Given the description of an element on the screen output the (x, y) to click on. 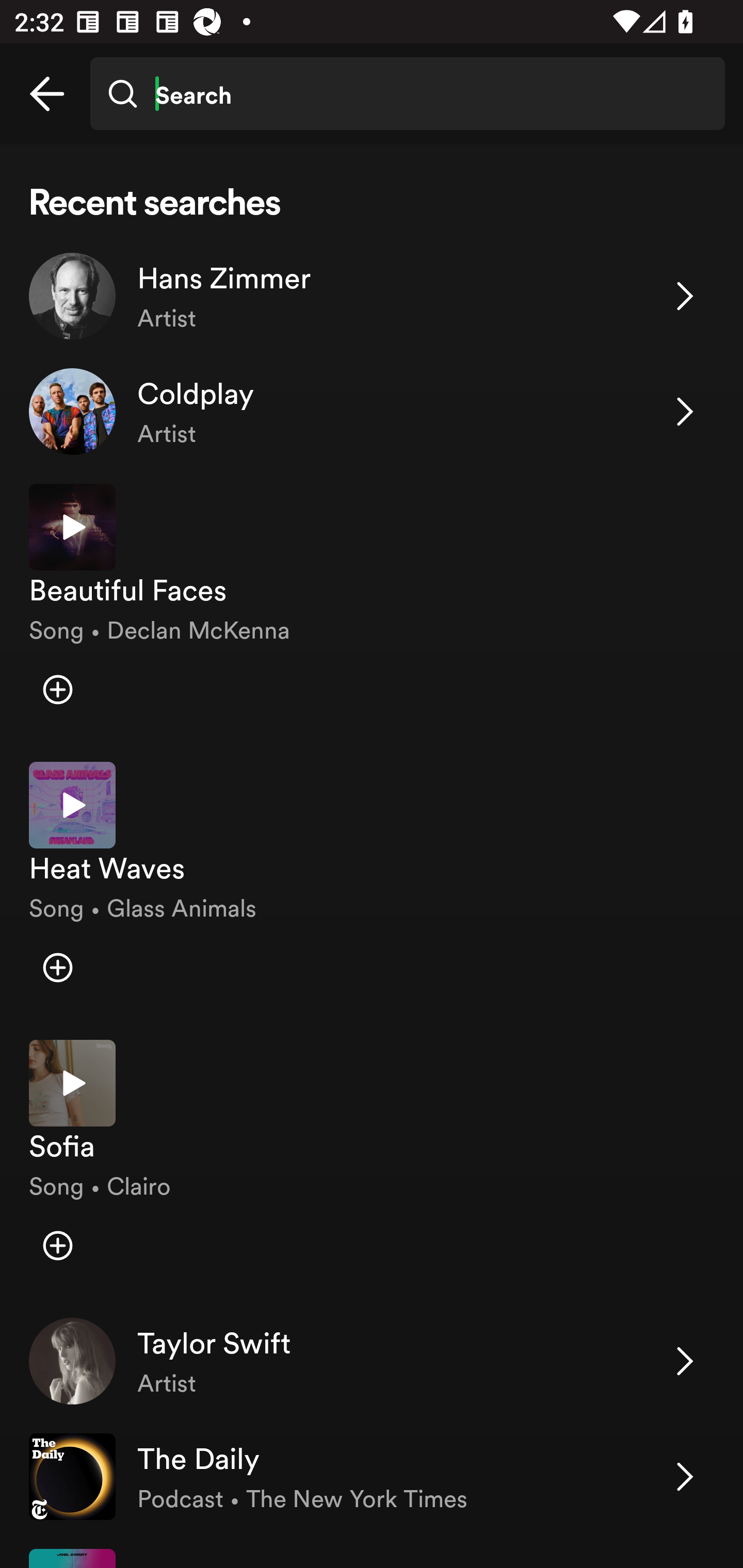
Back (46, 93)
Search (407, 94)
Hans Zimmer Artist (371, 296)
Coldplay Artist (371, 411)
Play preview (71, 527)
Add item (57, 689)
Play preview (71, 805)
Add item (57, 967)
Play preview Sofia Song • Clairo Add item (371, 1164)
Play preview (71, 1082)
Add item (57, 1245)
Taylor Swift Artist (371, 1361)
The Daily Podcast • The New York Times (371, 1477)
